Given the description of an element on the screen output the (x, y) to click on. 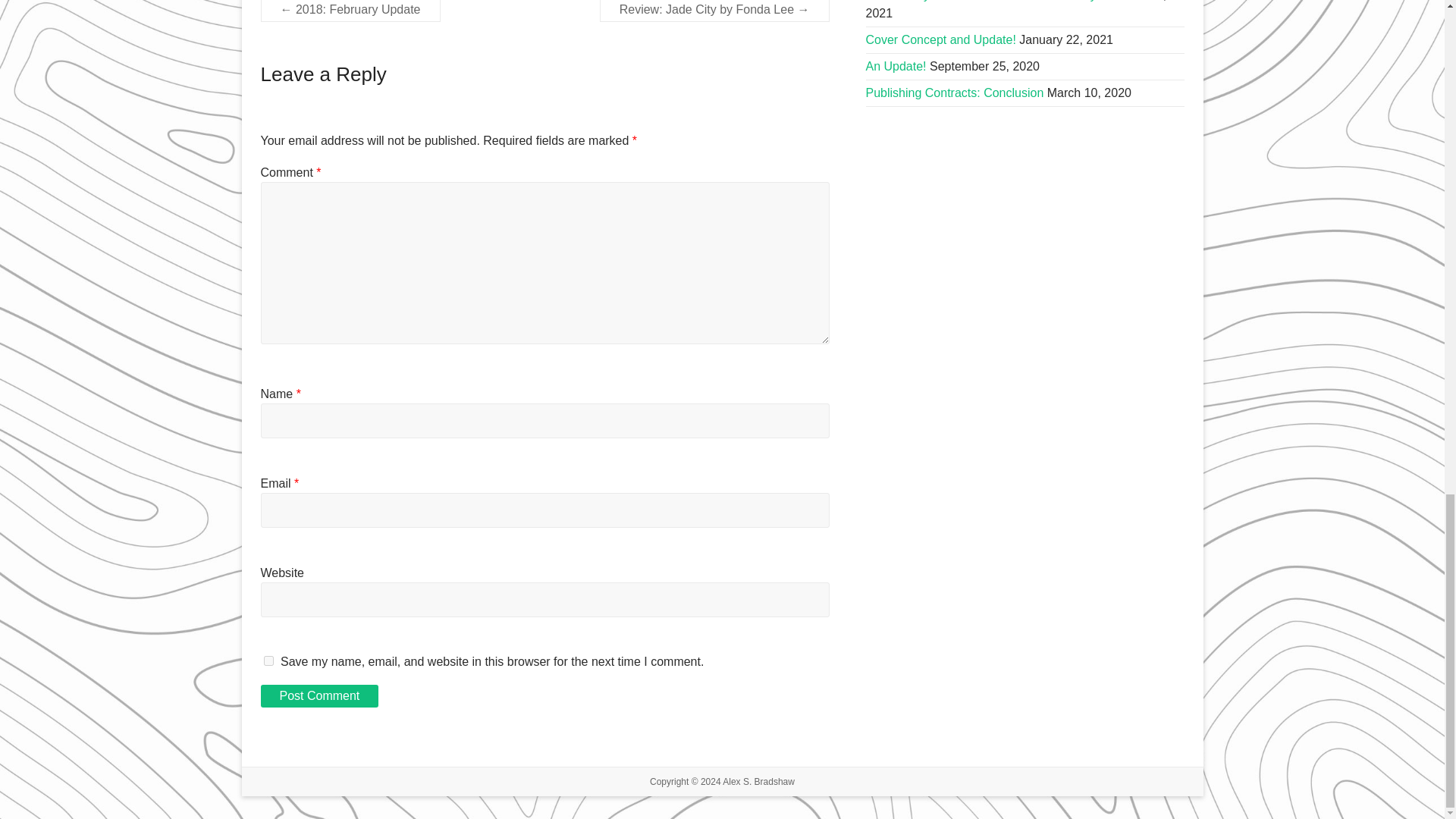
Publishing Contracts: Conclusion (954, 92)
Cover Concept and Update! (941, 39)
yes (268, 660)
An Update! (896, 65)
Post Comment (319, 695)
Post Comment (319, 695)
